Given the description of an element on the screen output the (x, y) to click on. 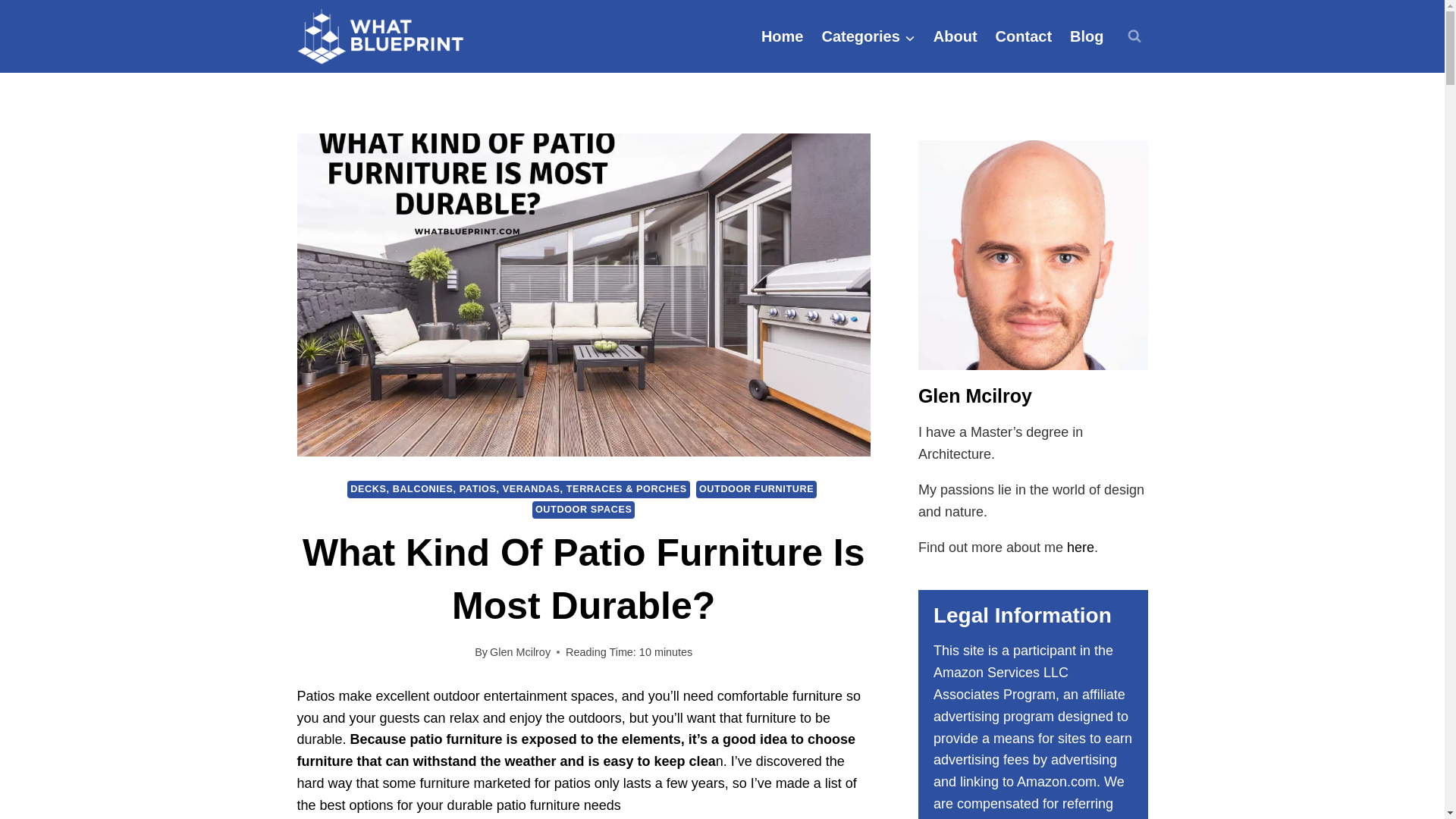
Home (782, 36)
Categories (867, 36)
About (955, 36)
Glen Mcilroy (519, 652)
Contact (1024, 36)
OUTDOOR FURNITURE (755, 488)
Blog (1086, 36)
OUTDOOR SPACES (583, 509)
